Given the description of an element on the screen output the (x, y) to click on. 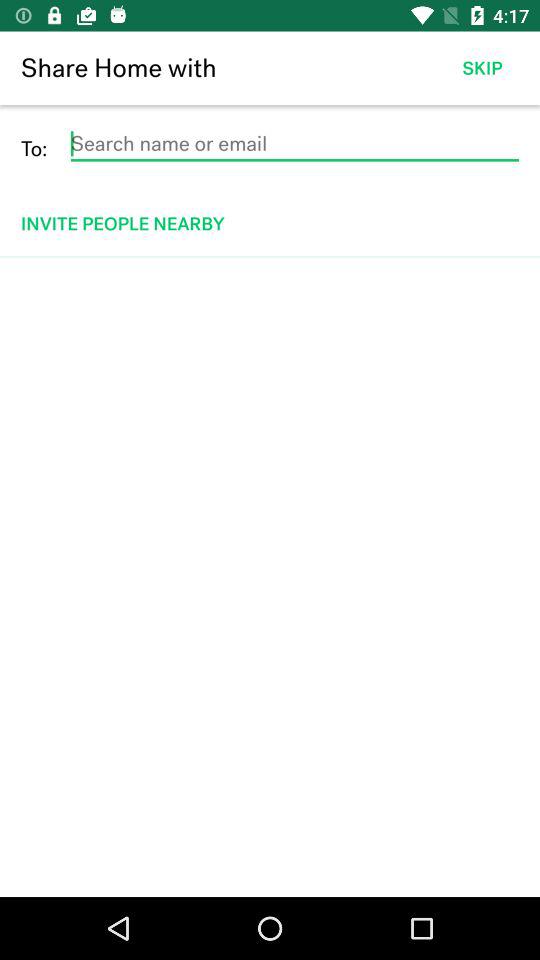
scroll until the invite people nearby item (272, 223)
